Given the description of an element on the screen output the (x, y) to click on. 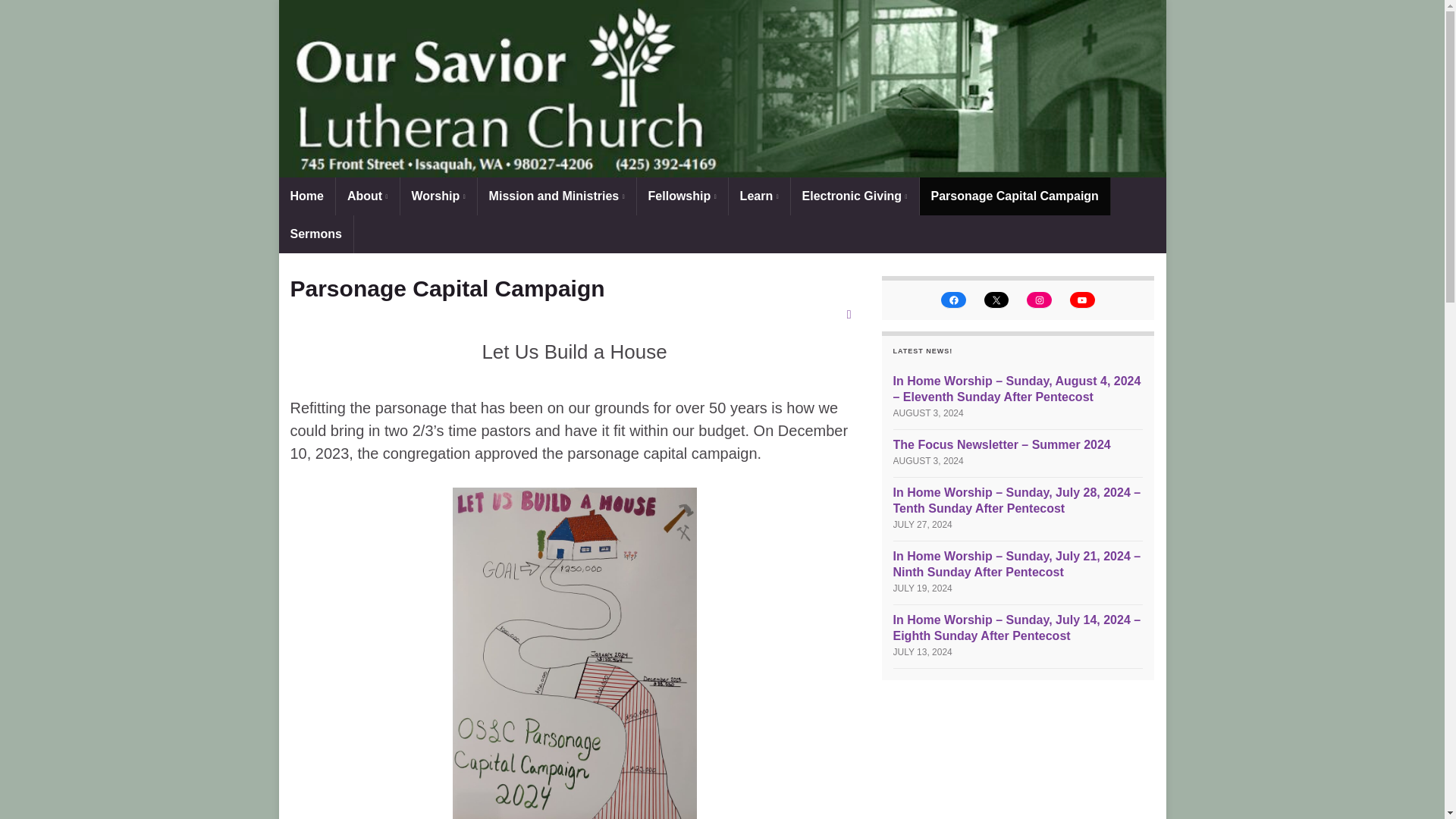
Home (306, 196)
Parsonage Capital Campaign (1013, 196)
Fellowship (682, 196)
About (367, 196)
Learn (759, 196)
Sermons (316, 234)
Worship (438, 196)
Mission and Ministries (556, 196)
Electronic Giving (854, 196)
